Given the description of an element on the screen output the (x, y) to click on. 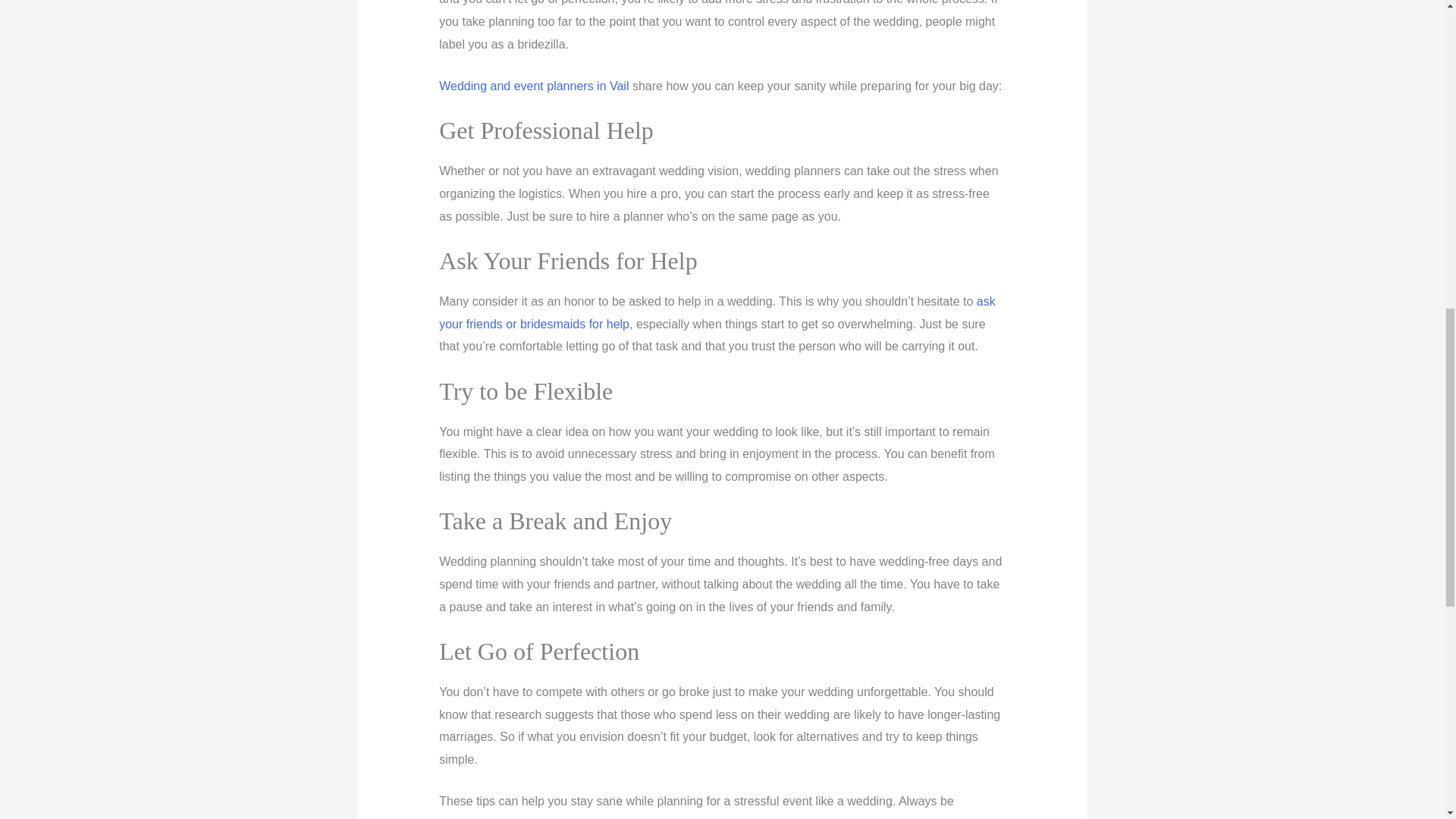
Wedding and event planners in Vail (533, 85)
ask your friends or bridesmaids for help (716, 312)
Glamour (716, 312)
Table 6 Productions (533, 85)
